Given the description of an element on the screen output the (x, y) to click on. 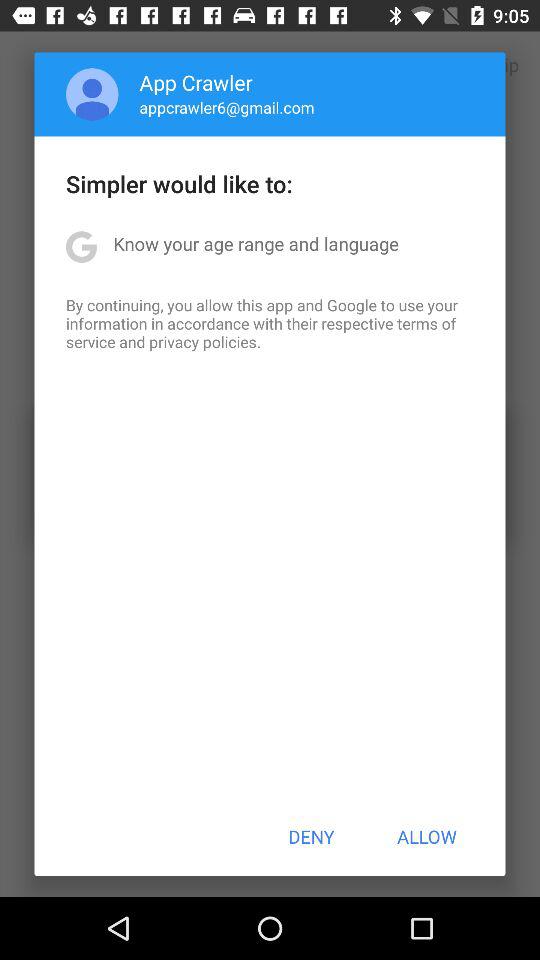
flip to deny icon (311, 836)
